Given the description of an element on the screen output the (x, y) to click on. 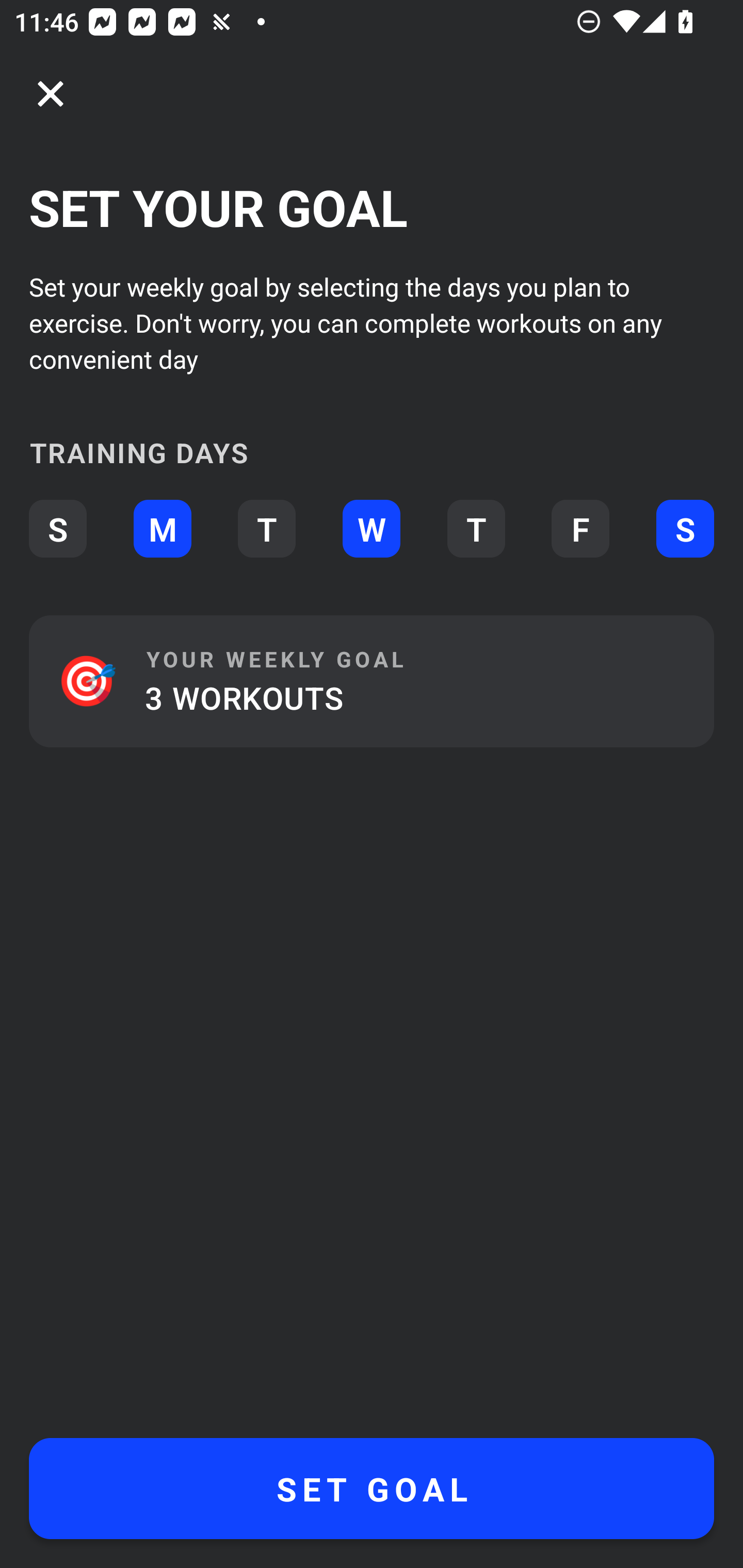
Back Icon (50, 93)
S (57, 529)
M (161, 529)
T (266, 529)
W (371, 529)
T (476, 529)
F (580, 529)
S (684, 529)
SET GOAL (371, 1488)
